Given the description of an element on the screen output the (x, y) to click on. 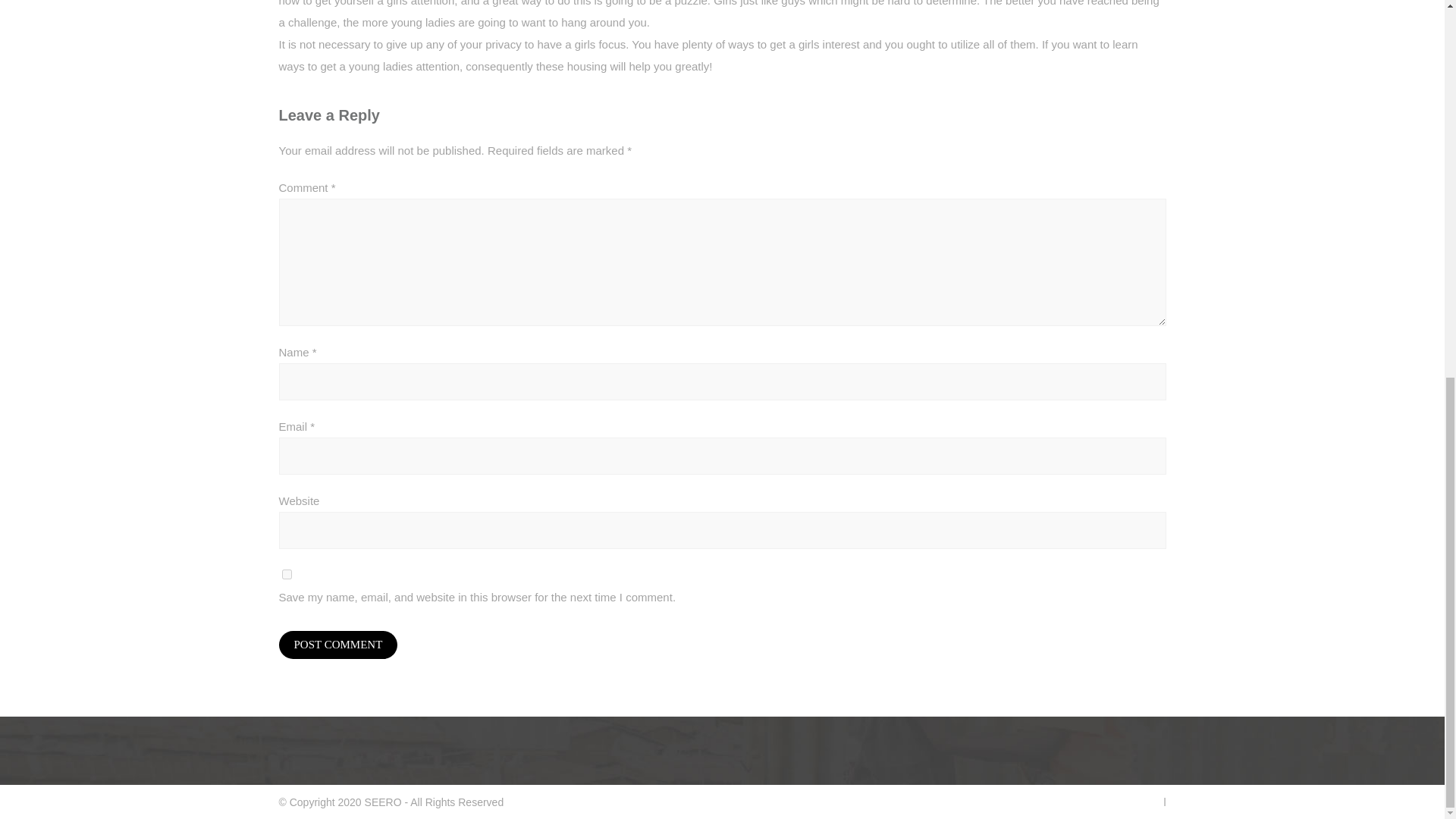
Post Comment (338, 644)
Post Comment (338, 644)
yes (287, 574)
